Given the description of an element on the screen output the (x, y) to click on. 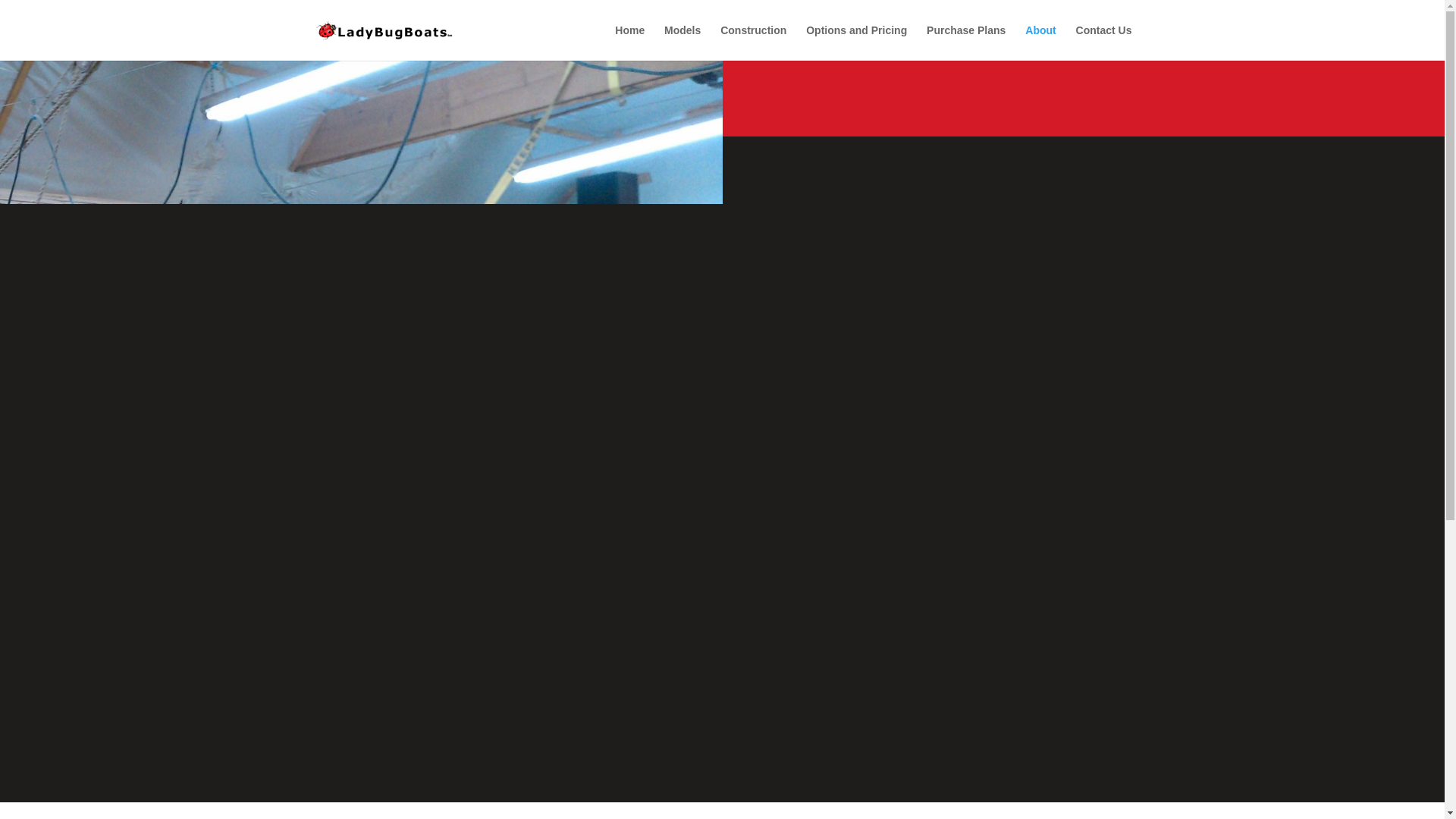
Options and Pricing (856, 42)
Contact Us (1103, 42)
Construction (753, 42)
Models (681, 42)
Purchase Plans (966, 42)
